Given the description of an element on the screen output the (x, y) to click on. 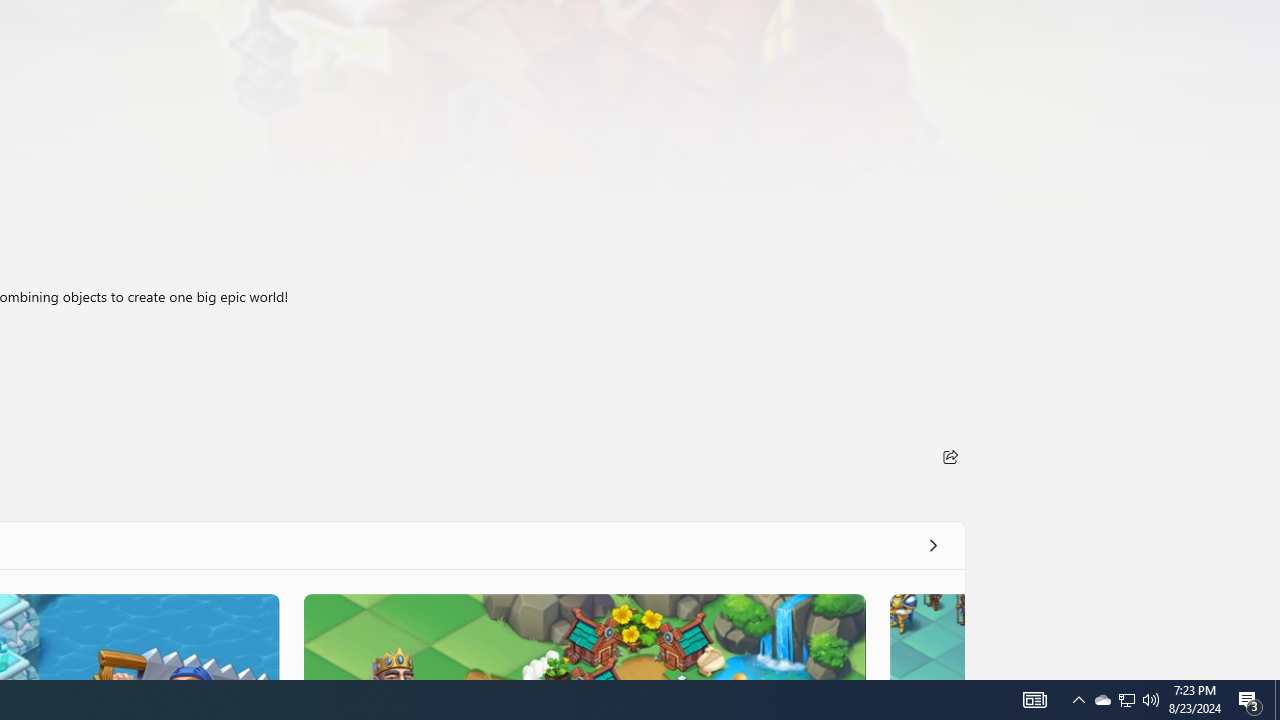
Share (950, 456)
Screenshot 4 (926, 636)
Screenshot 3 (584, 636)
See all (932, 544)
